Given the description of an element on the screen output the (x, y) to click on. 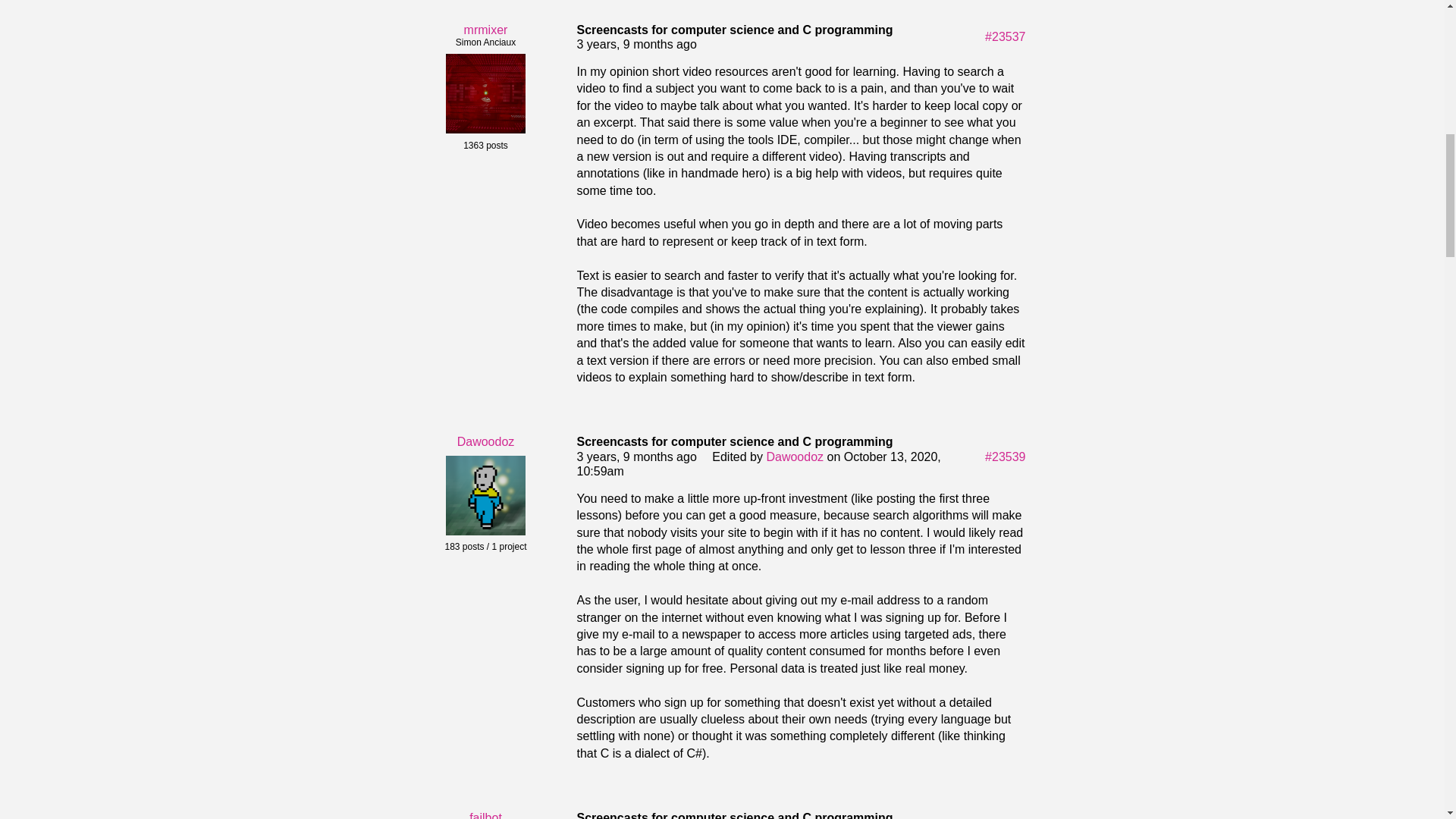
Dawoodoz (486, 440)
failbot (485, 815)
Dawoodoz (794, 456)
mrmixer (486, 29)
